Given the description of an element on the screen output the (x, y) to click on. 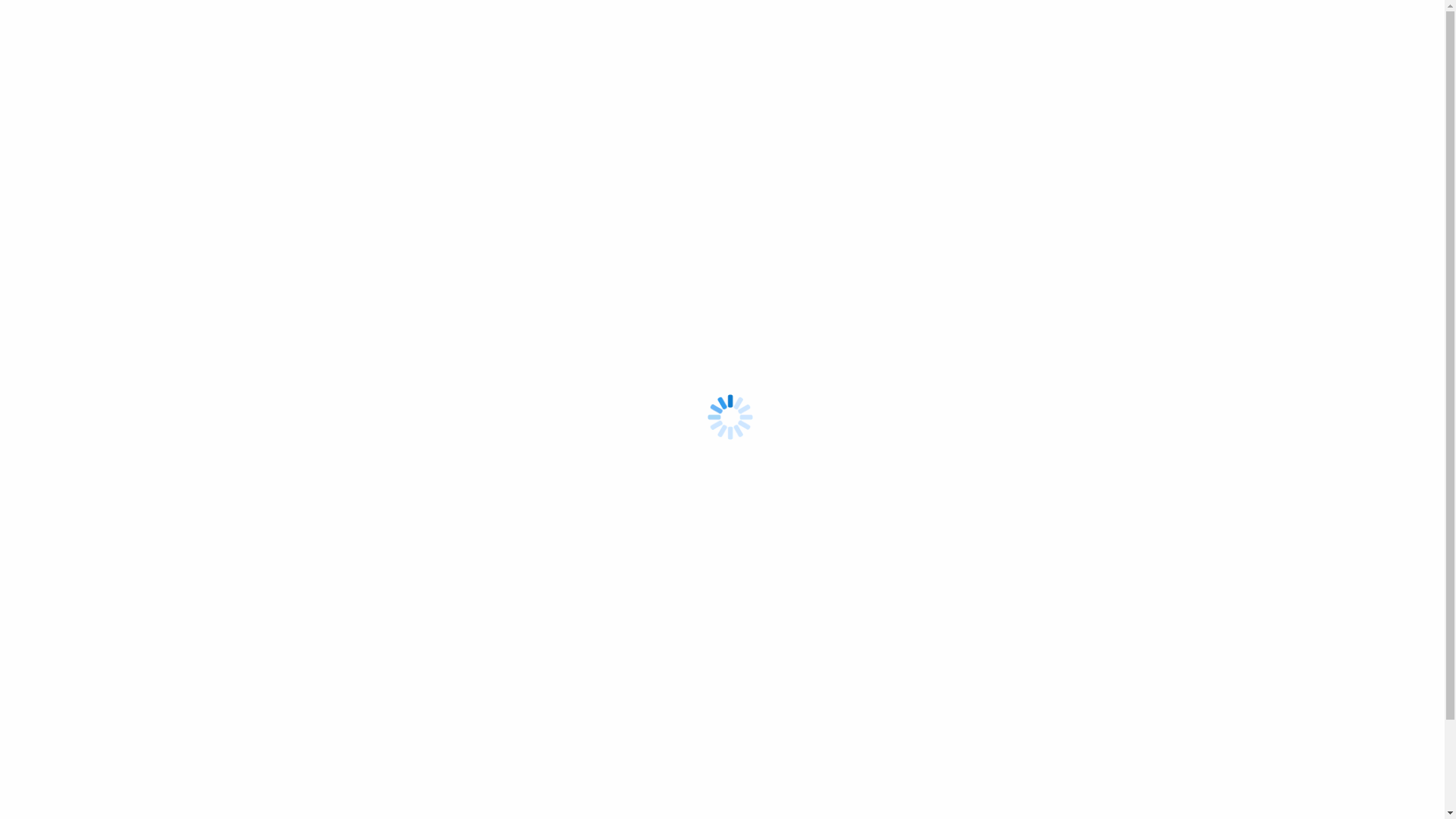
MISSION & VISION Element type: text (1076, 202)
MEET OUR TEAM Element type: text (727, 202)
OPENING HOURS Element type: text (821, 202)
info@hockingmedical.com.au Element type: text (844, 31)
HOME Element type: text (429, 202)
CONTACT Element type: text (652, 202)
COSMETIC Element type: text (900, 202)
SERVICES Element type: text (592, 202)
BILLING DETAILS Element type: text (979, 202)
MEDICAL CANNABIS Element type: text (506, 202)
